Given the description of an element on the screen output the (x, y) to click on. 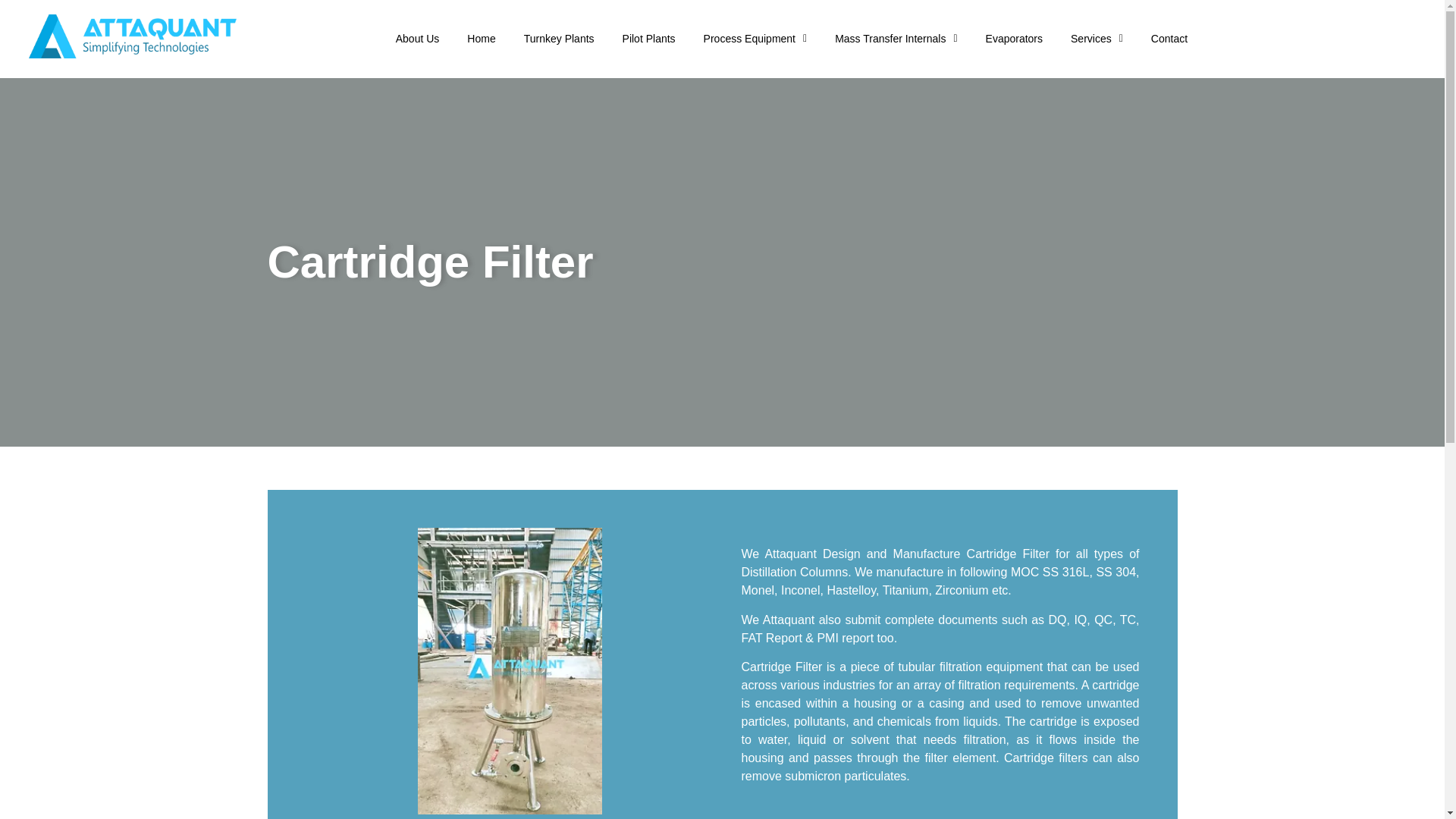
Home (480, 38)
Mass Transfer Internals (896, 38)
Turnkey Plants (558, 38)
Pilot Plants (649, 38)
About Us (417, 38)
Services (1096, 38)
Evaporators (1014, 38)
Process Equipment (755, 38)
